Given the description of an element on the screen output the (x, y) to click on. 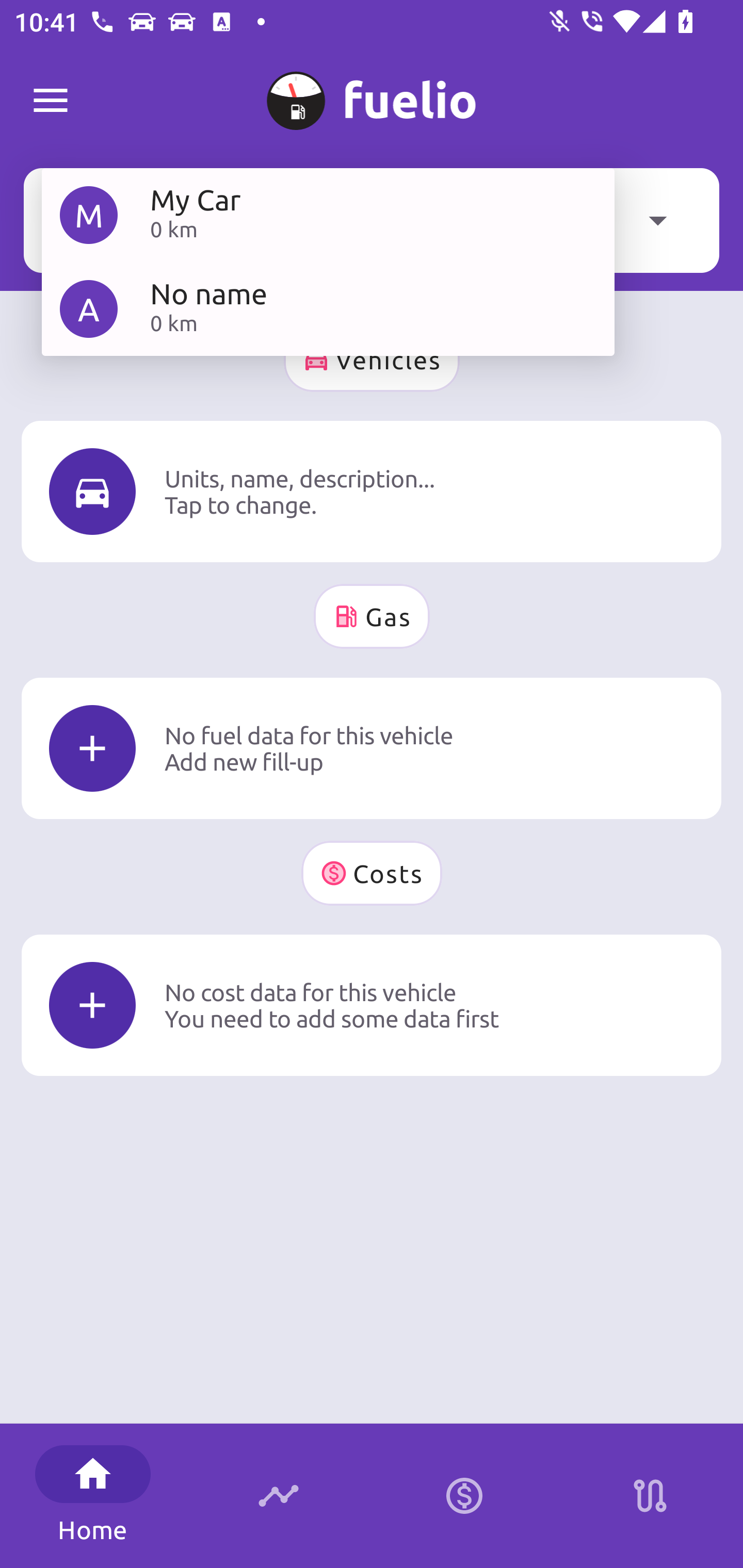
M My Car 0 km (327, 214)
A No name 0 km (327, 308)
